Given the description of an element on the screen output the (x, y) to click on. 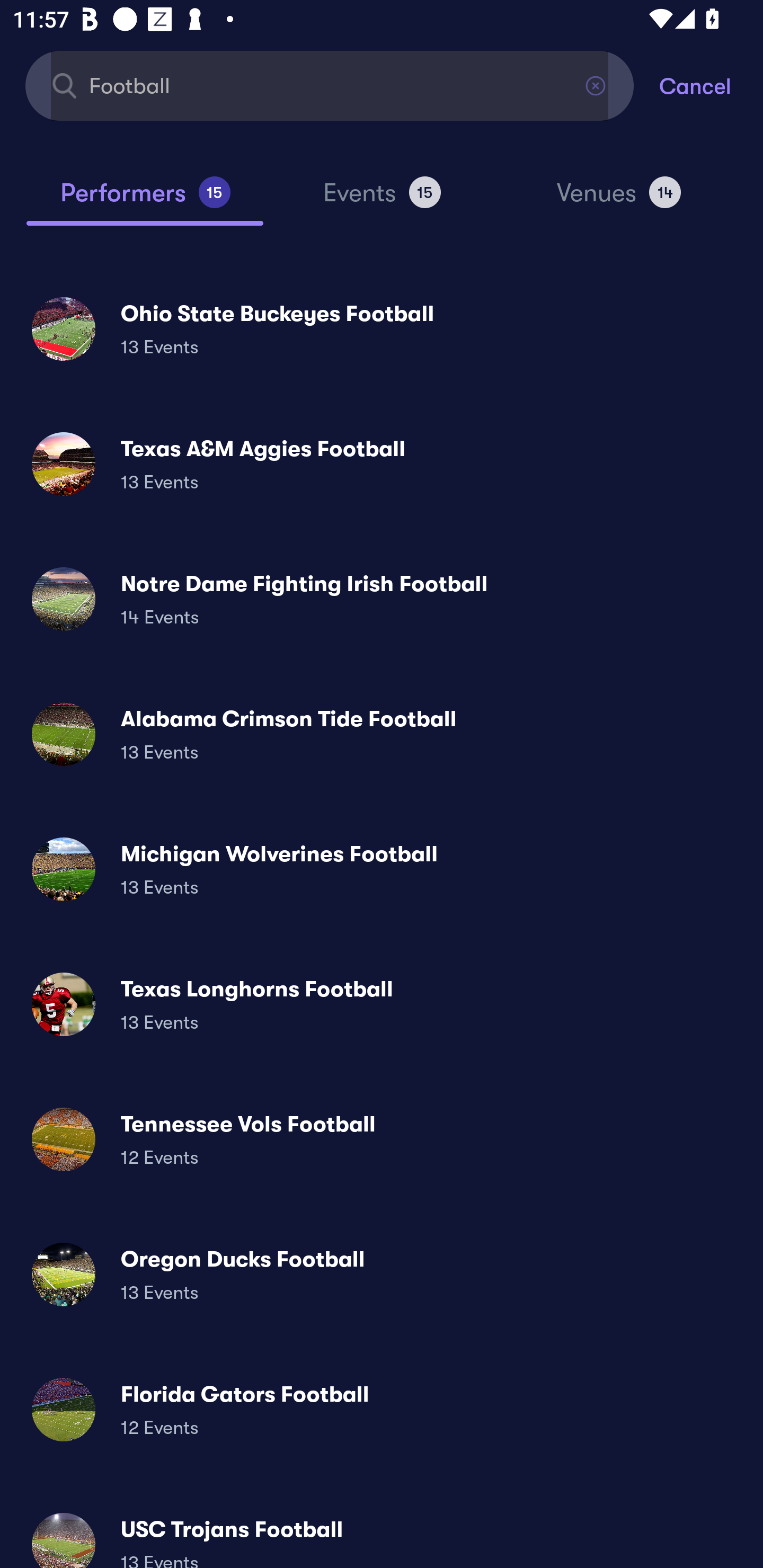
Football Find (329, 85)
Football Find (329, 85)
Cancel (711, 85)
Performers 15 (144, 200)
Events 15 (381, 200)
Venues 14 (618, 200)
Ohio State Buckeyes Football 13 Events (381, 328)
Texas A&M Aggies Football 13 Events (381, 464)
Notre Dame Fighting Irish Football 14 Events (381, 598)
Alabama Crimson Tide Football 13 Events (381, 734)
Michigan Wolverines Football 13 Events (381, 869)
Texas Longhorns Football 13 Events (381, 1004)
Tennessee Vols Football 12 Events (381, 1138)
Oregon Ducks Football 13 Events (381, 1273)
Florida Gators Football 12 Events (381, 1409)
USC Trojans Football 13 Events (381, 1532)
